Given the description of an element on the screen output the (x, y) to click on. 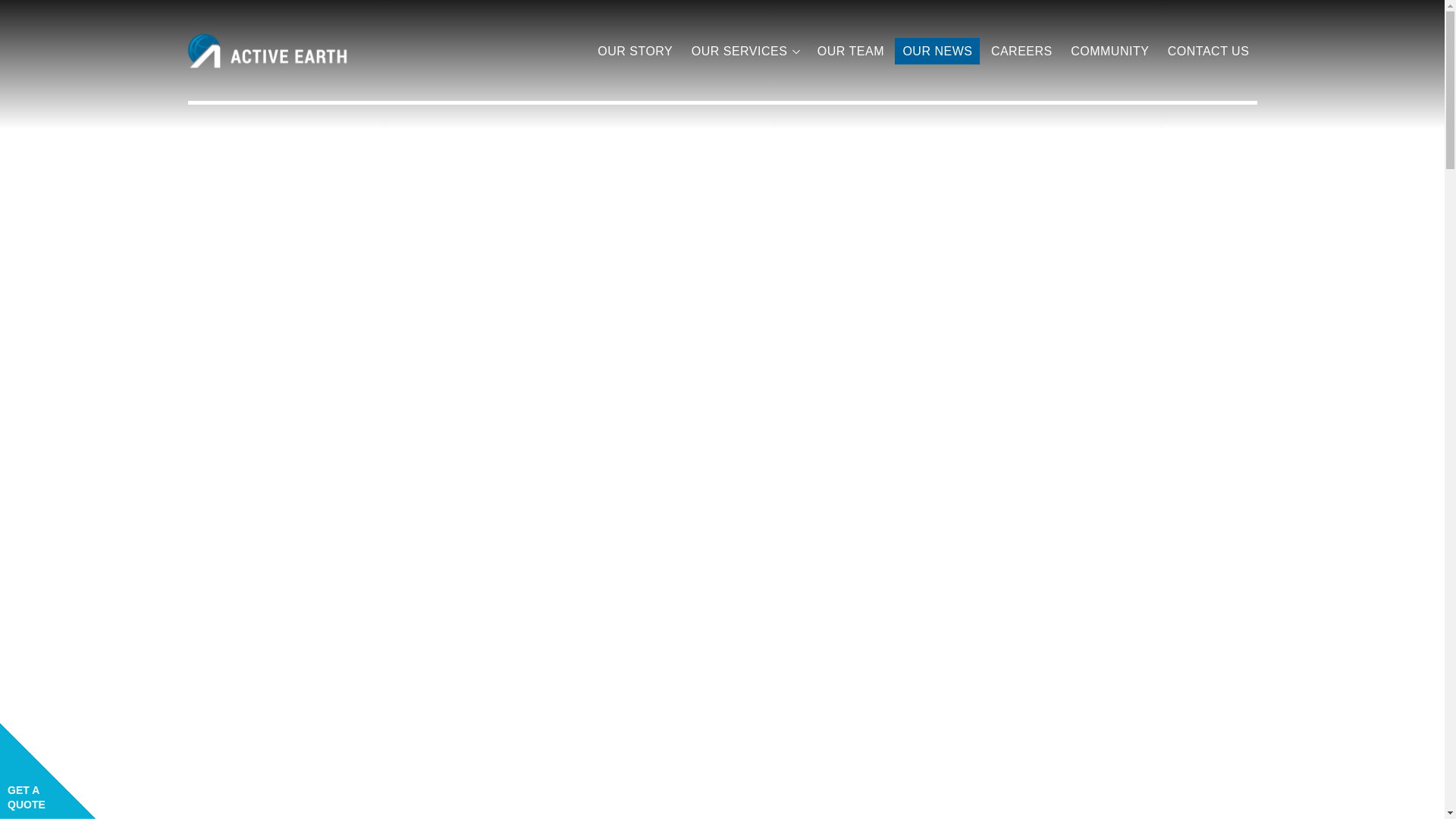
CAREERS (1021, 51)
COMMUNITY (1109, 51)
CONTACT US (1208, 51)
OUR TEAM (849, 51)
OUR STORY (634, 51)
OUR SERVICES (739, 51)
OUR NEWS (937, 51)
